Given the description of an element on the screen output the (x, y) to click on. 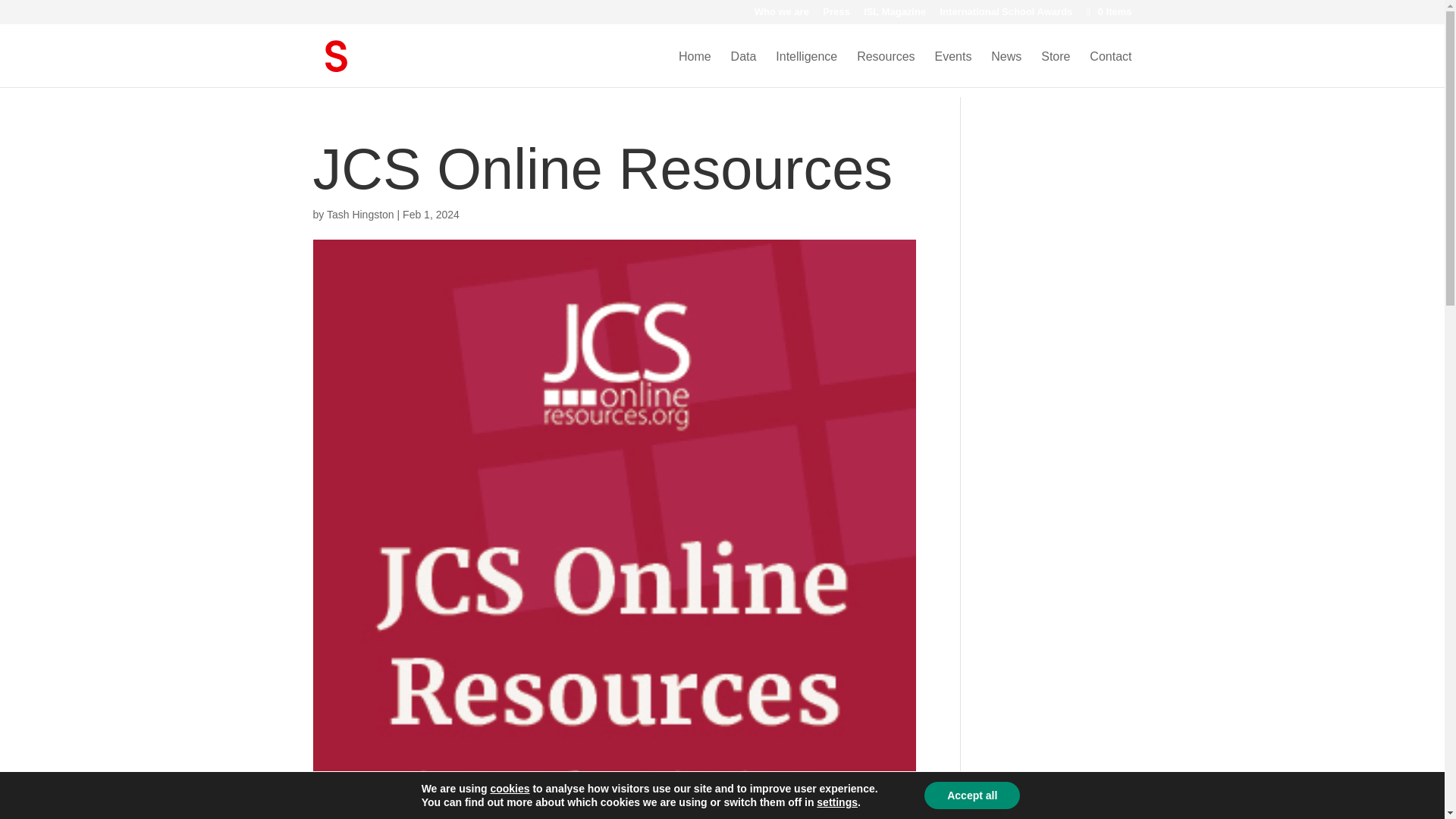
International School Awards (1006, 15)
Contact (1110, 68)
Resources (885, 68)
Intelligence (806, 68)
Store (1055, 68)
News (1006, 68)
0 Items (1107, 11)
Posts by Tash Hingston (360, 214)
Who we are (781, 15)
Press (835, 15)
Events (952, 68)
Data (743, 68)
Home (694, 68)
ISL Magazine (894, 15)
